Given the description of an element on the screen output the (x, y) to click on. 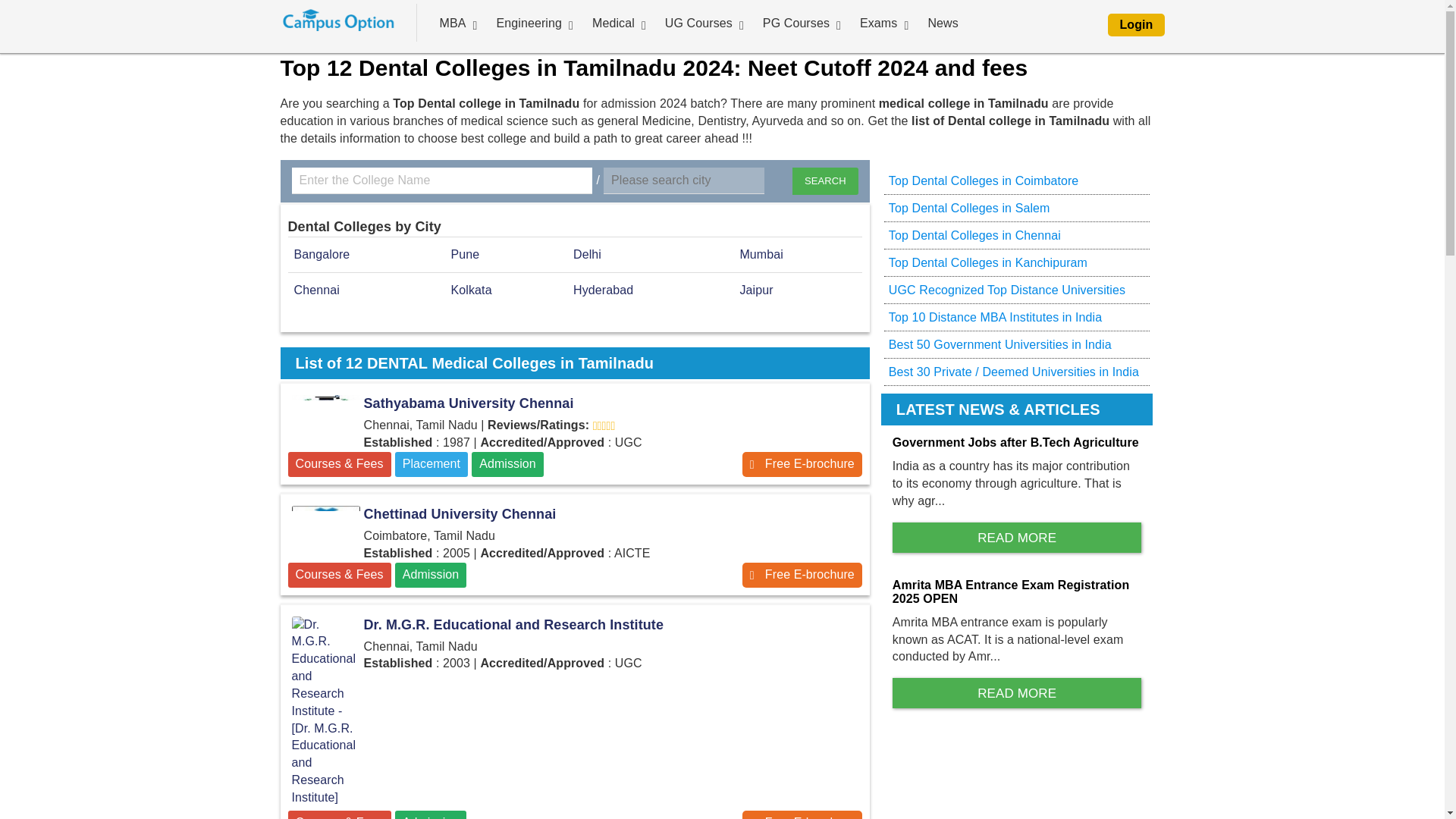
dental Medical Colleges in Jaipur (756, 289)
UG Courses (698, 23)
Engineering (528, 23)
Chettinad University Chennai (326, 524)
dental Medical Colleges in Chennai (316, 289)
dental Medical Colleges in Kolkata (471, 289)
PG Courses (796, 23)
dental Medical Colleges in Pune (465, 254)
Sathyabama University Chennai (801, 464)
Dr. M.G.R. Educational and Research Institute (574, 624)
